Given the description of an element on the screen output the (x, y) to click on. 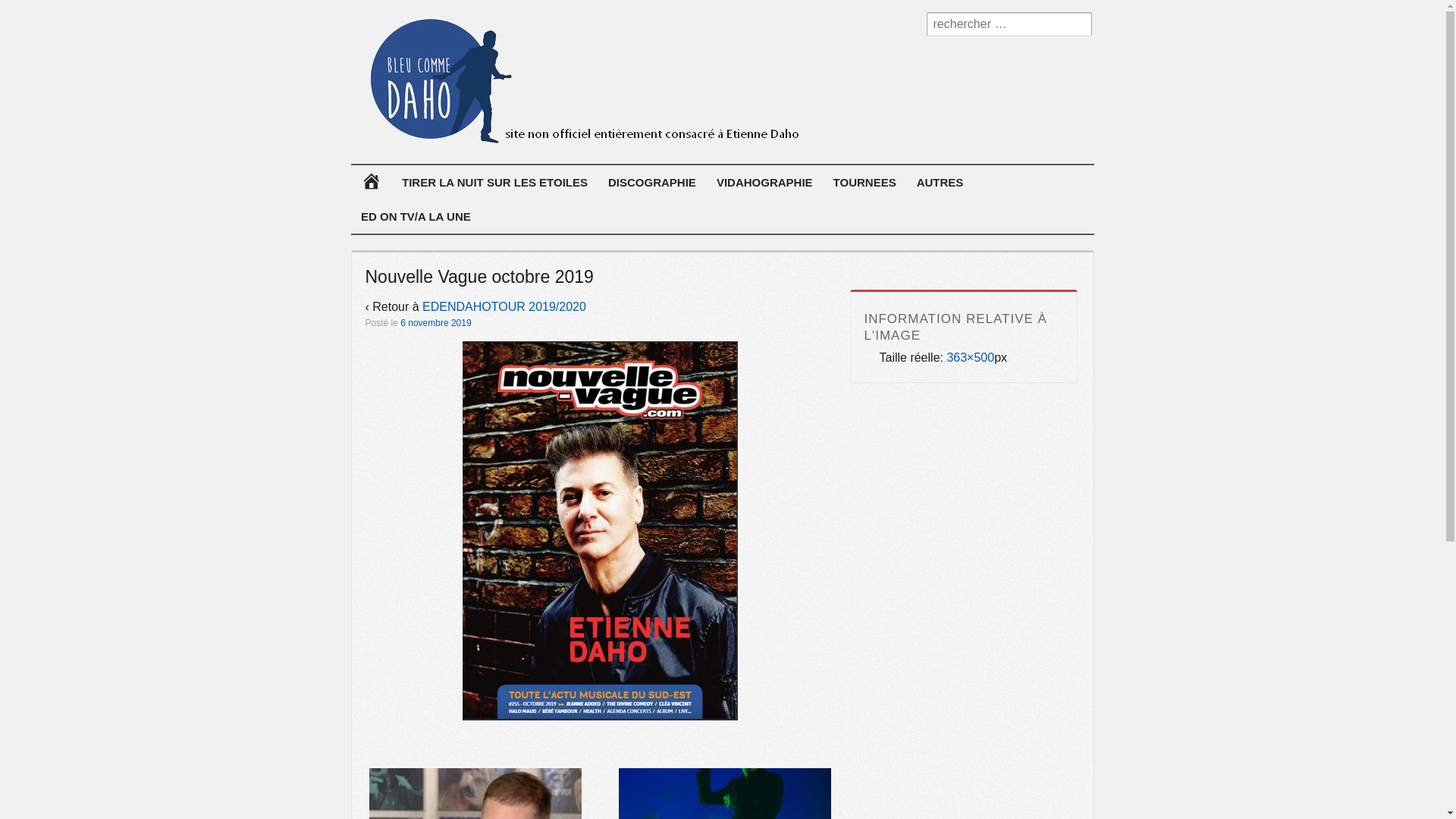
TOURNEES Element type: text (864, 182)
TIRER LA NUIT SUR LES ETOILES Element type: text (494, 182)
DISCOGRAPHIE Element type: text (652, 182)
EDENDAHOTOUR 2019/2020 Element type: text (504, 306)
AUTRES Element type: text (939, 182)
VIDAHOGRAPHIE Element type: text (764, 182)
Accueil Element type: text (370, 182)
6 novembre 2019 Element type: text (435, 322)
ED ON TV/A LA UNE Element type: text (415, 216)
